Given the description of an element on the screen output the (x, y) to click on. 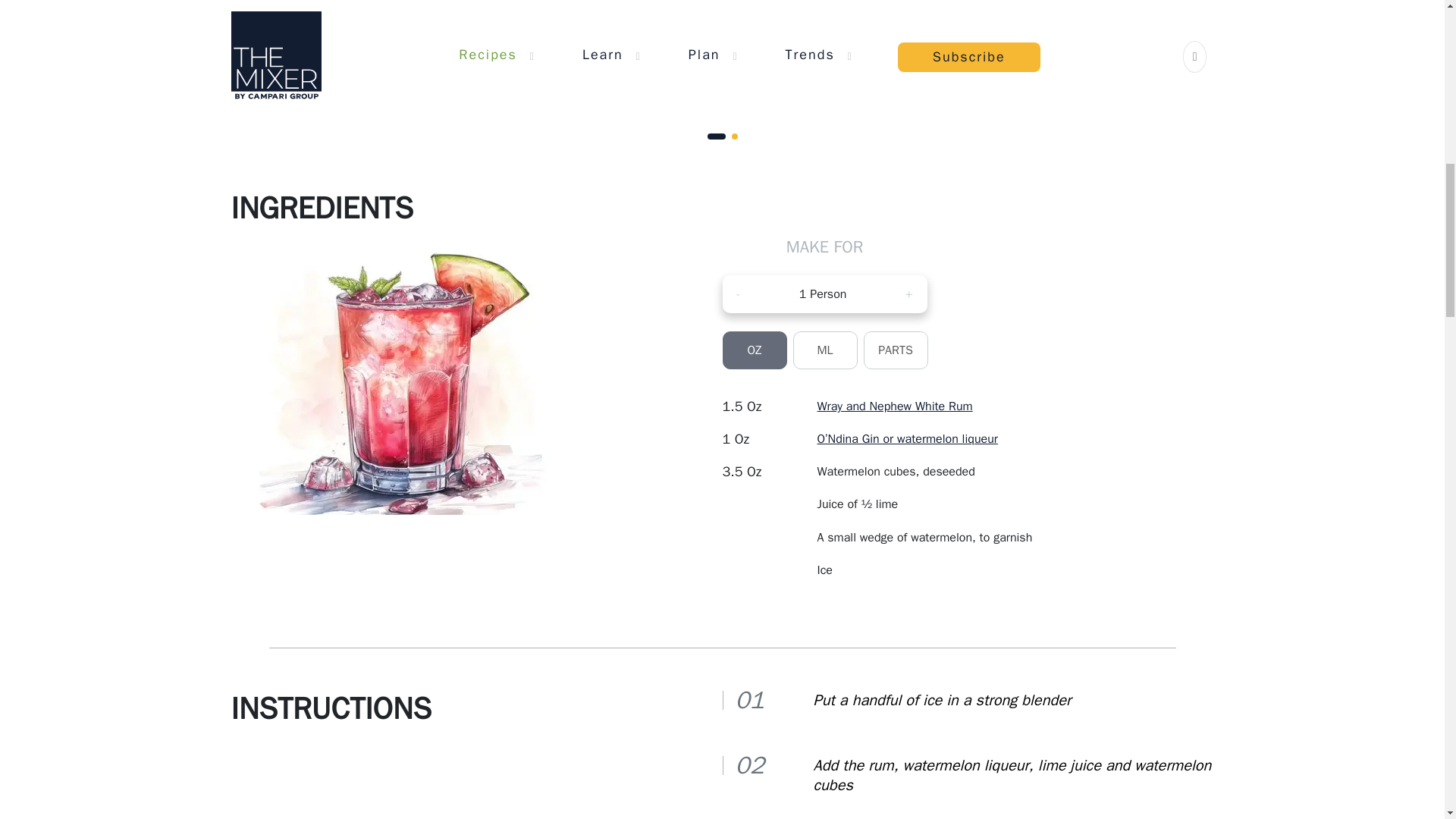
Open link in new tab (906, 438)
Open link in new tab (894, 406)
